Given the description of an element on the screen output the (x, y) to click on. 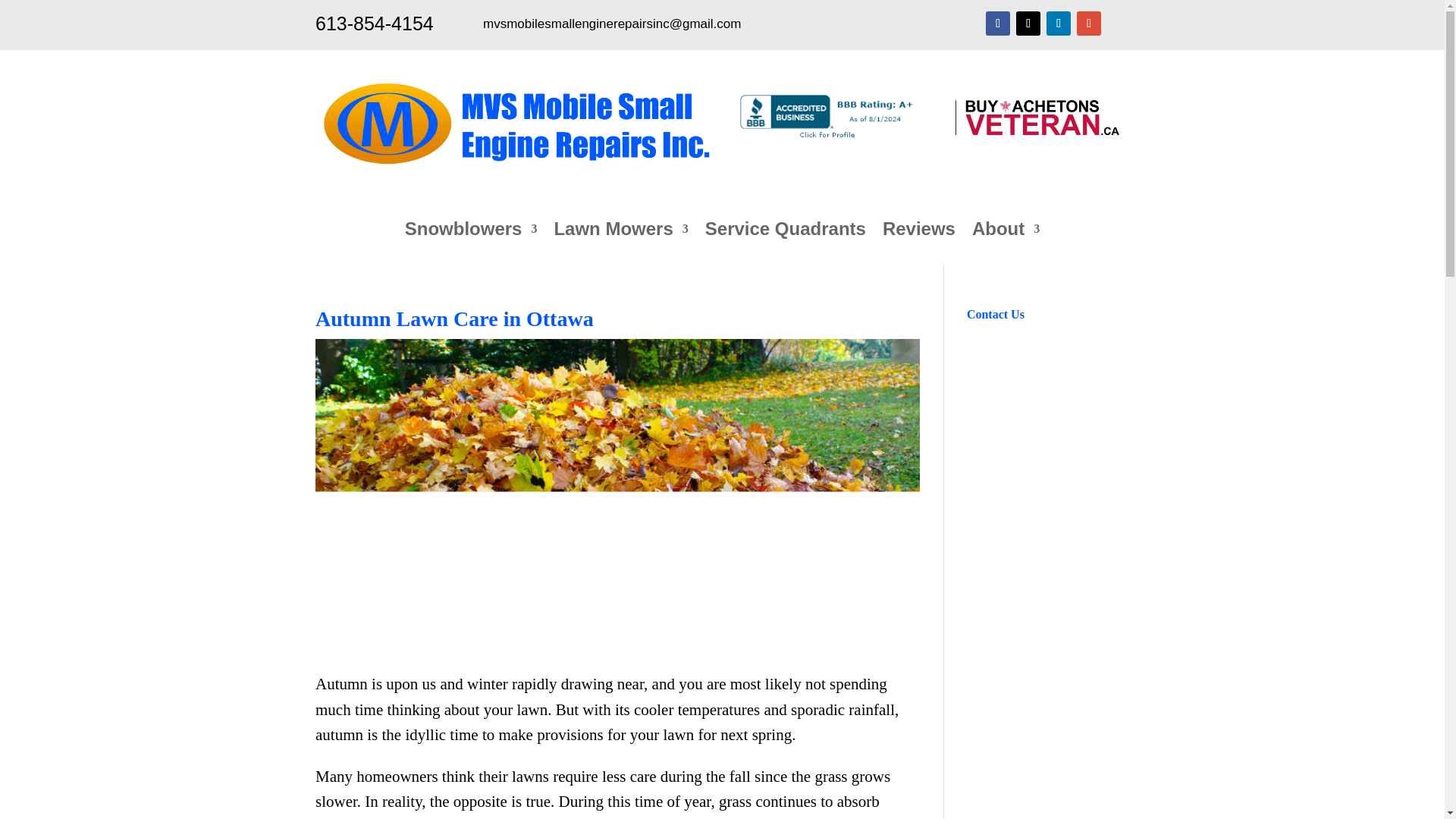
Snowblowers (470, 231)
Follow on google-plus (1088, 23)
Follow on Facebook (997, 23)
About (1005, 231)
Follow on X (1028, 23)
Follow on LinkedIn (1058, 23)
Lawn Mowers (620, 231)
MVS FInal Logo (512, 123)
Service Quadrants (785, 231)
Reviews (918, 231)
